Given the description of an element on the screen output the (x, y) to click on. 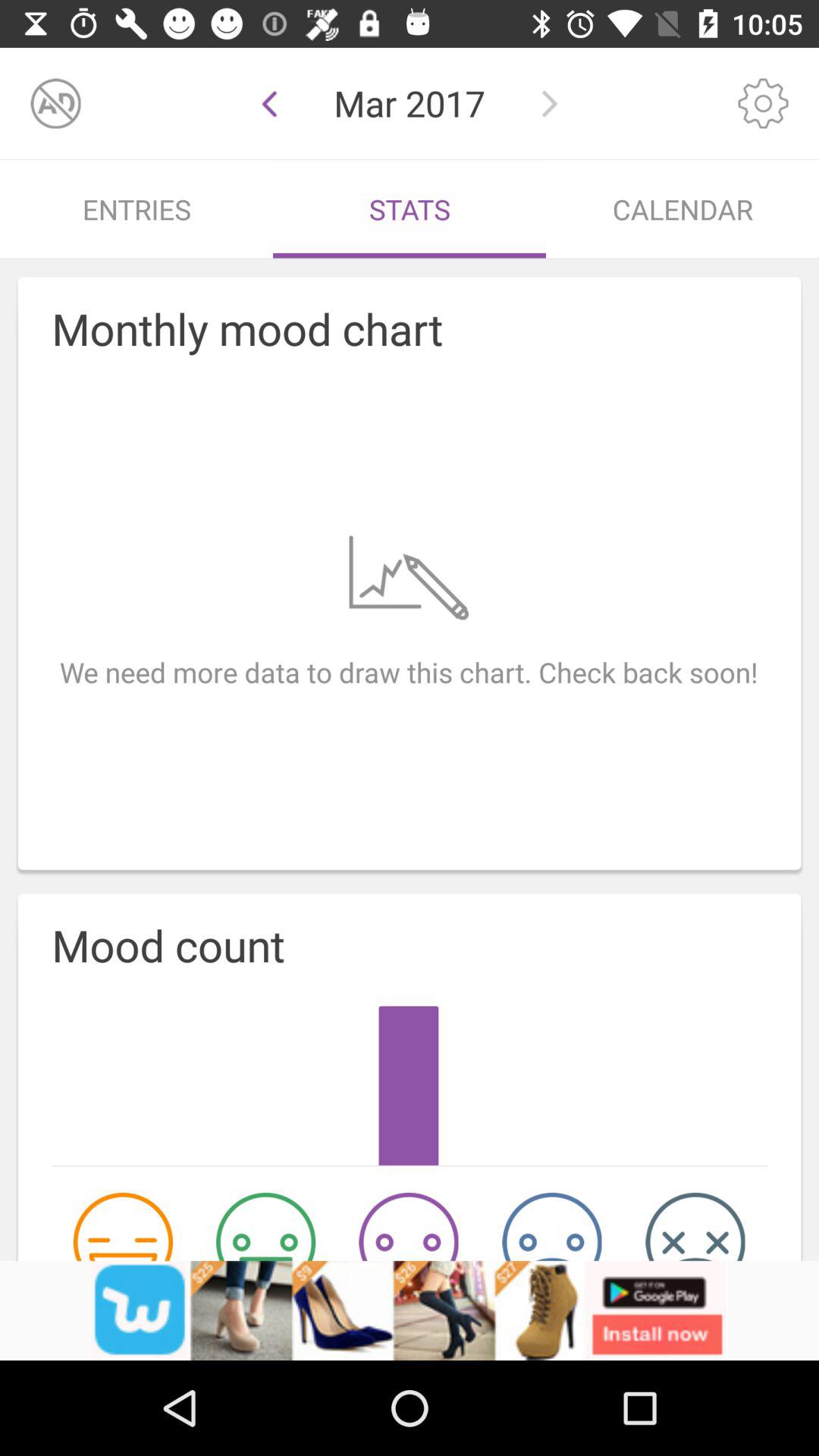
previous page (269, 103)
